Given the description of an element on the screen output the (x, y) to click on. 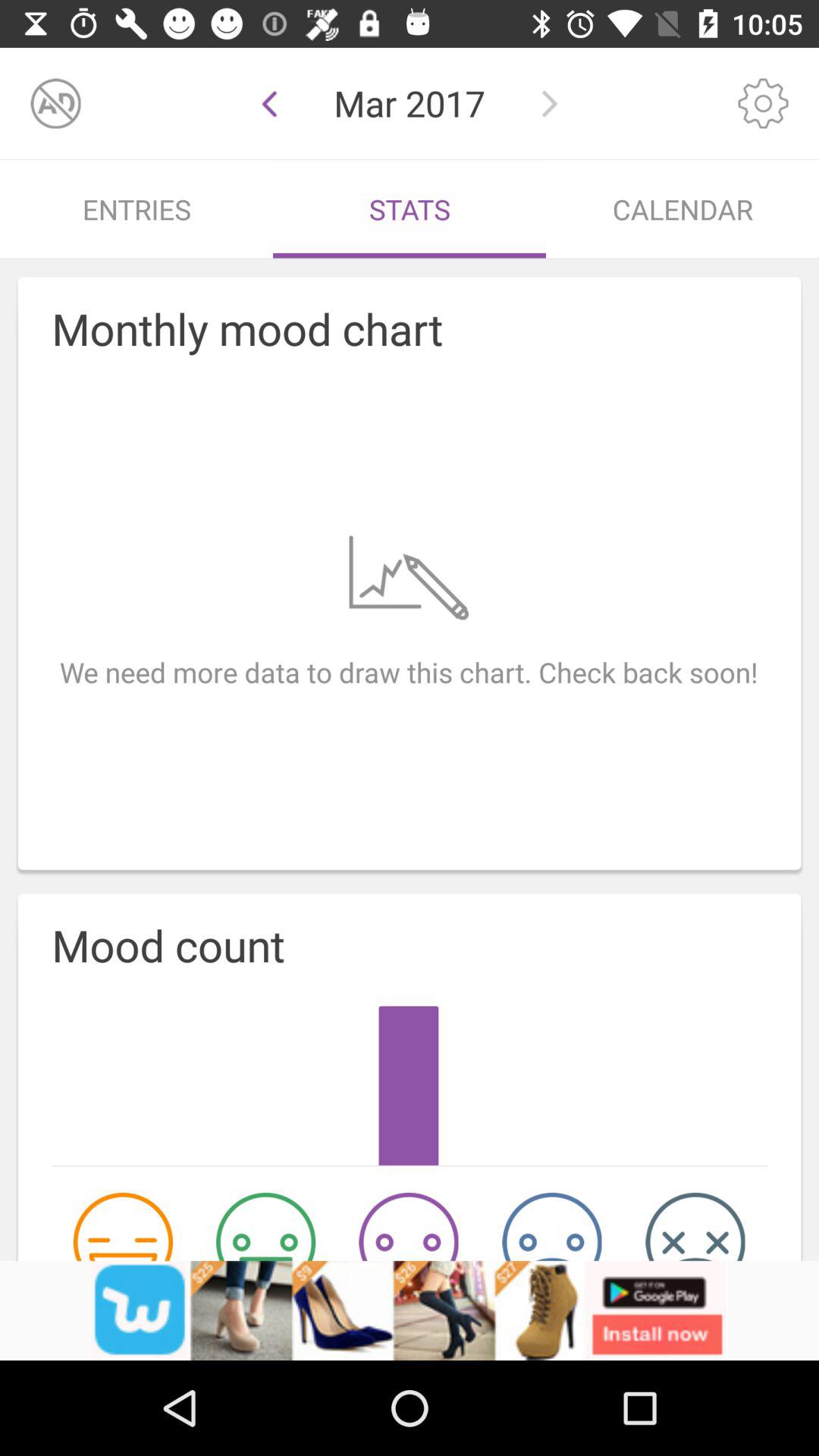
previous page (269, 103)
